Given the description of an element on the screen output the (x, y) to click on. 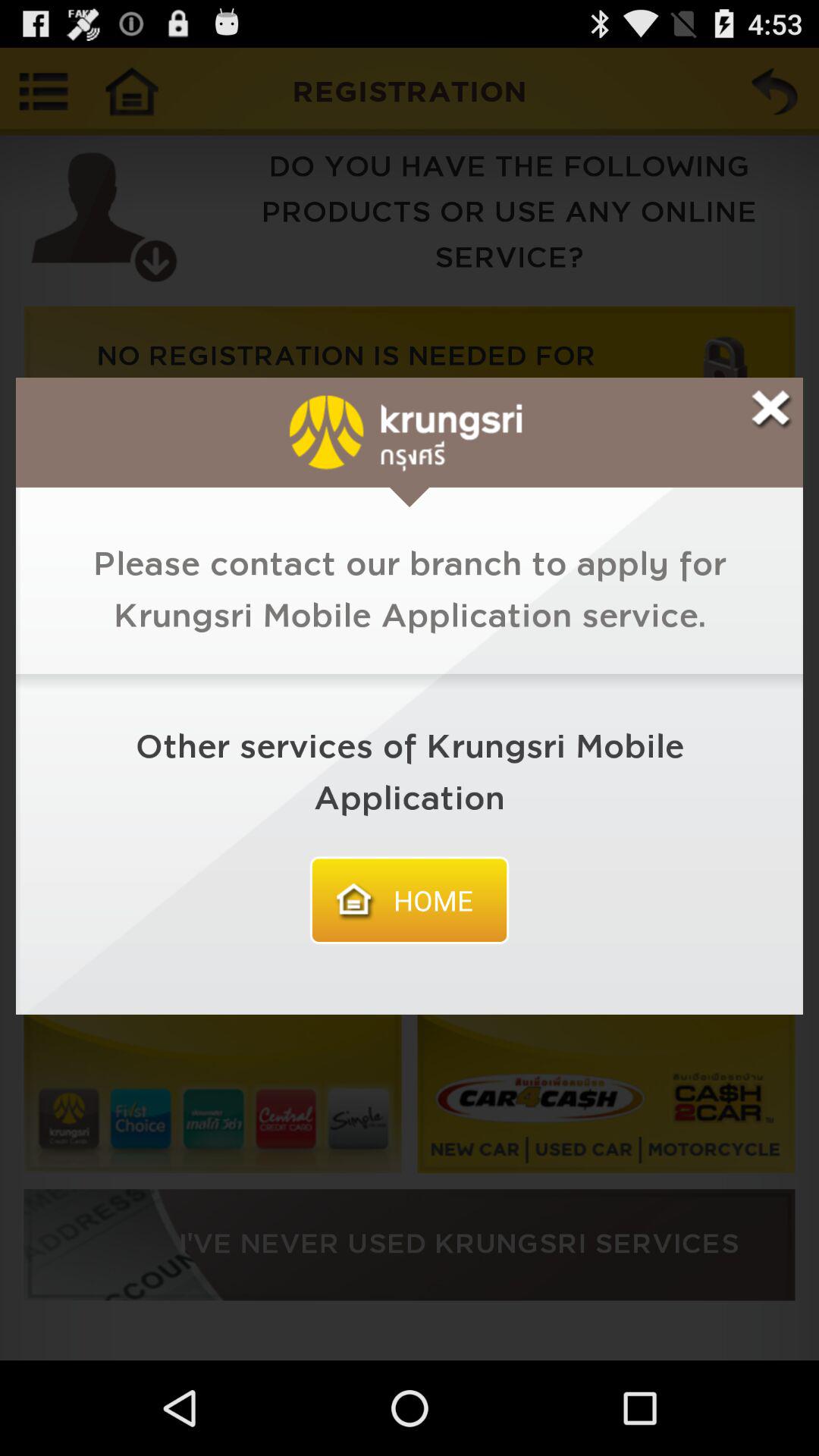
close notification window (771, 409)
